Given the description of an element on the screen output the (x, y) to click on. 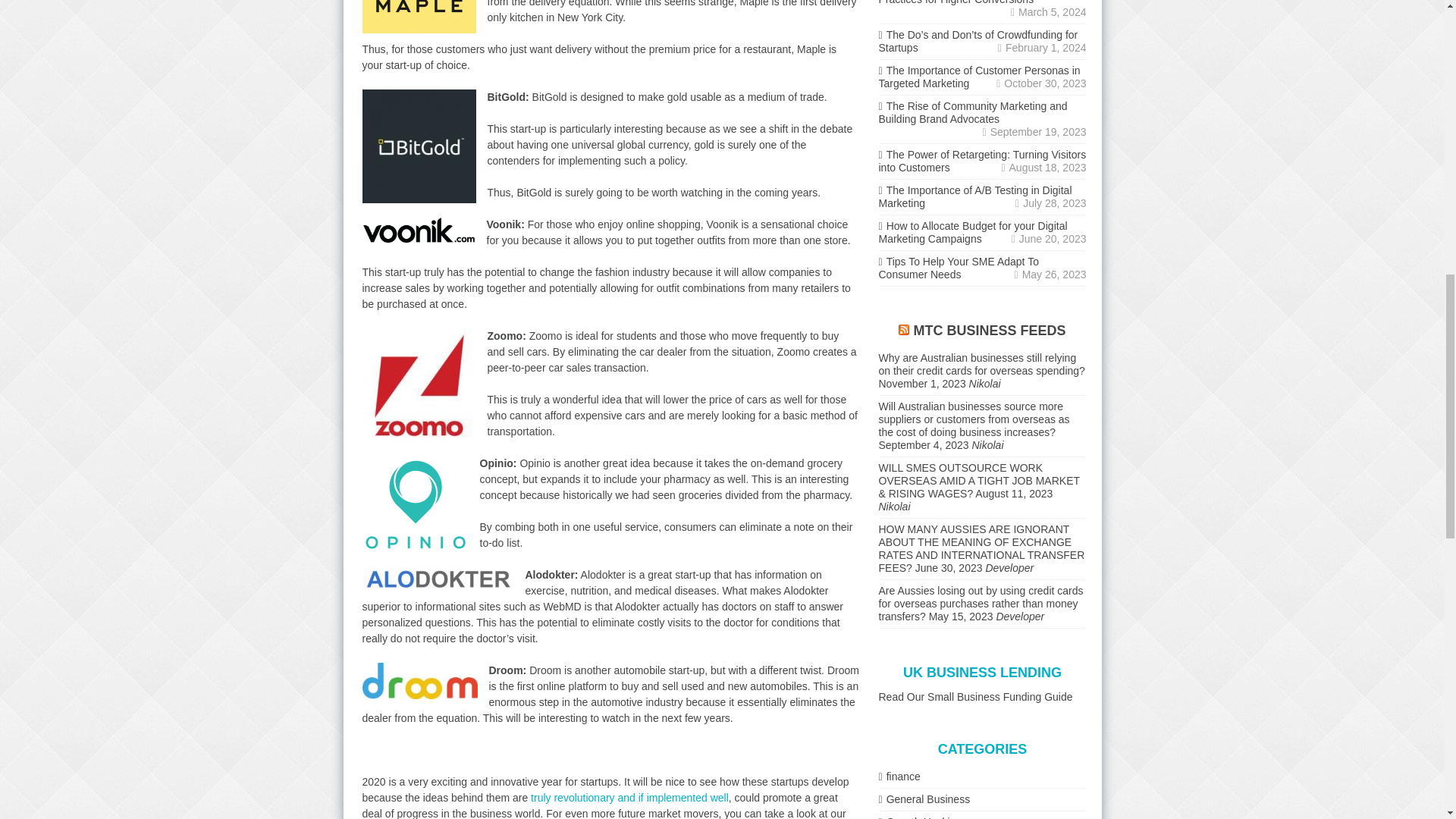
truly revolutionary and if implemented well (630, 797)
